Given the description of an element on the screen output the (x, y) to click on. 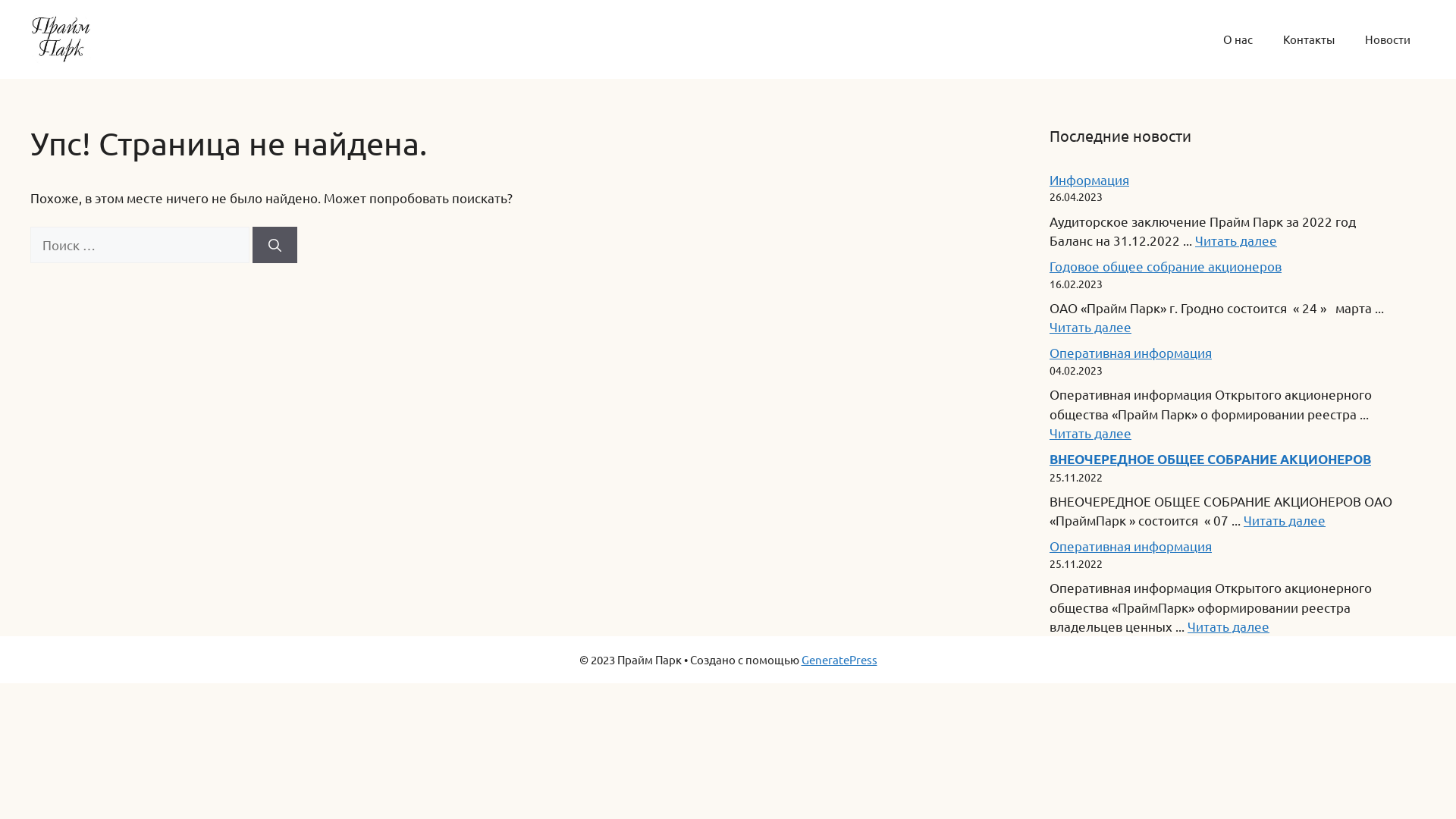
GeneratePress Element type: text (838, 659)
